Given the description of an element on the screen output the (x, y) to click on. 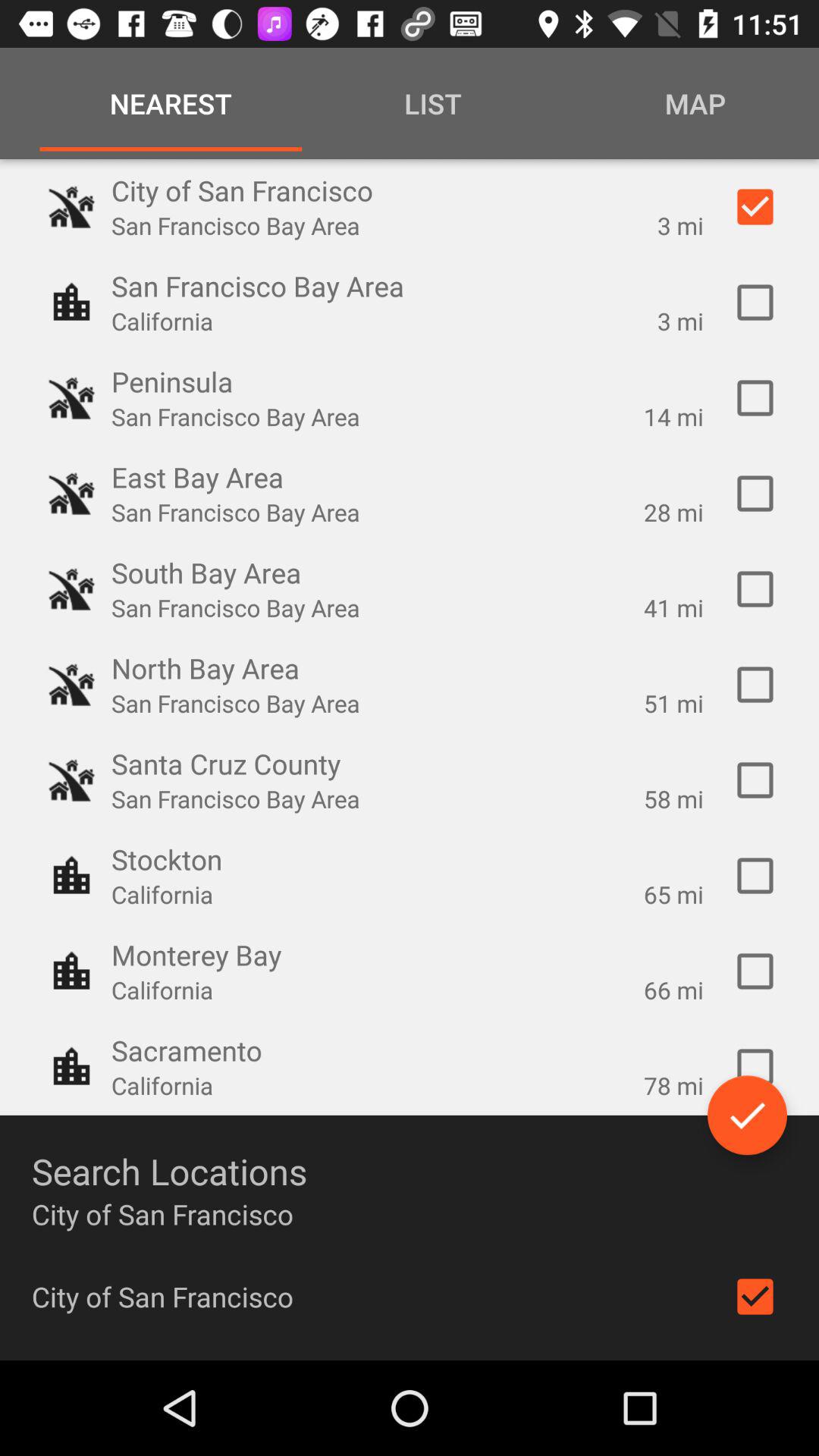
select location (755, 684)
